Given the description of an element on the screen output the (x, y) to click on. 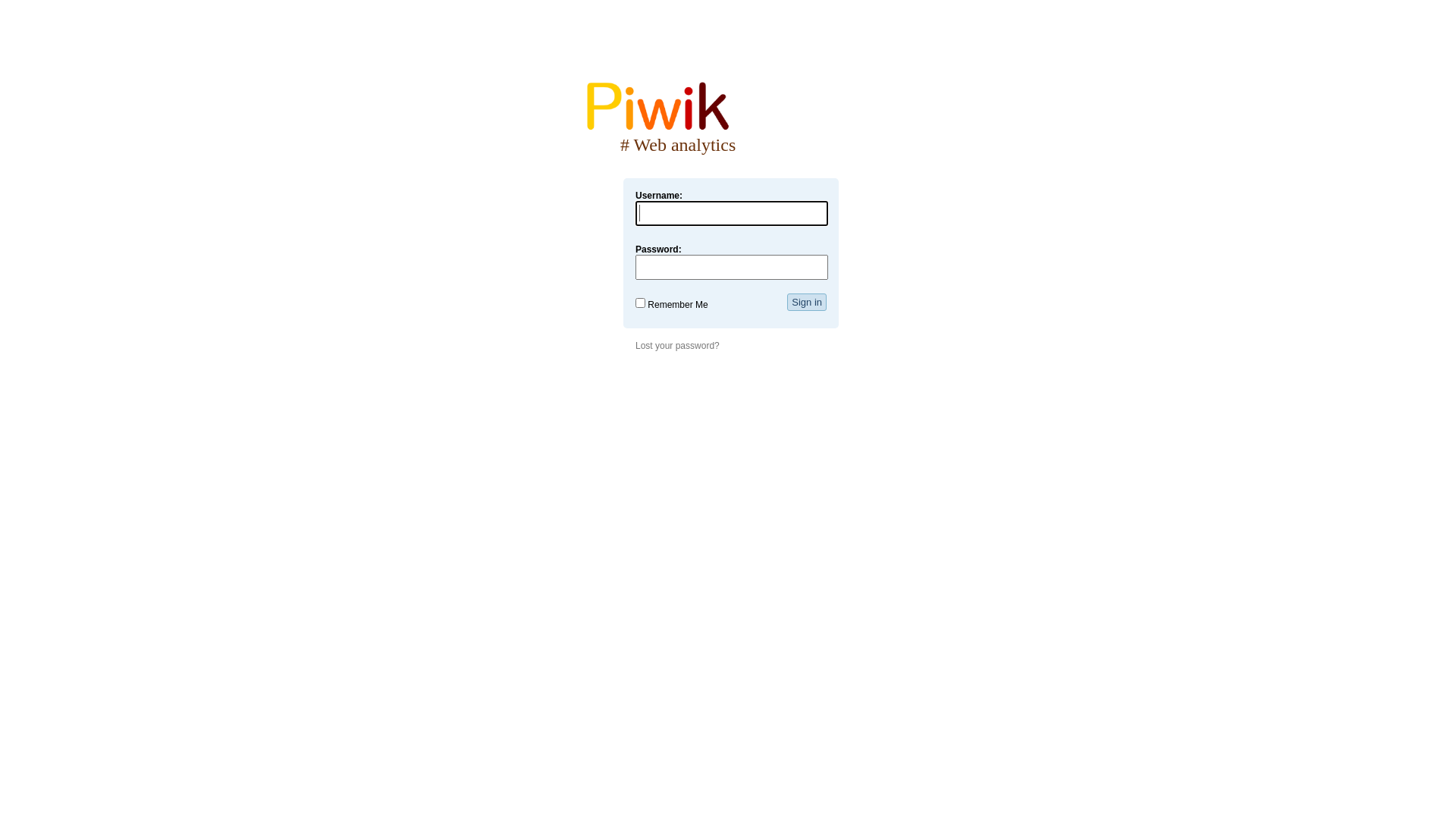
# Web analytics Element type: text (733, 139)
Web analytics Element type: hover (658, 104)
Sign in Element type: text (806, 301)
Lost your password? Element type: text (677, 345)
